Given the description of an element on the screen output the (x, y) to click on. 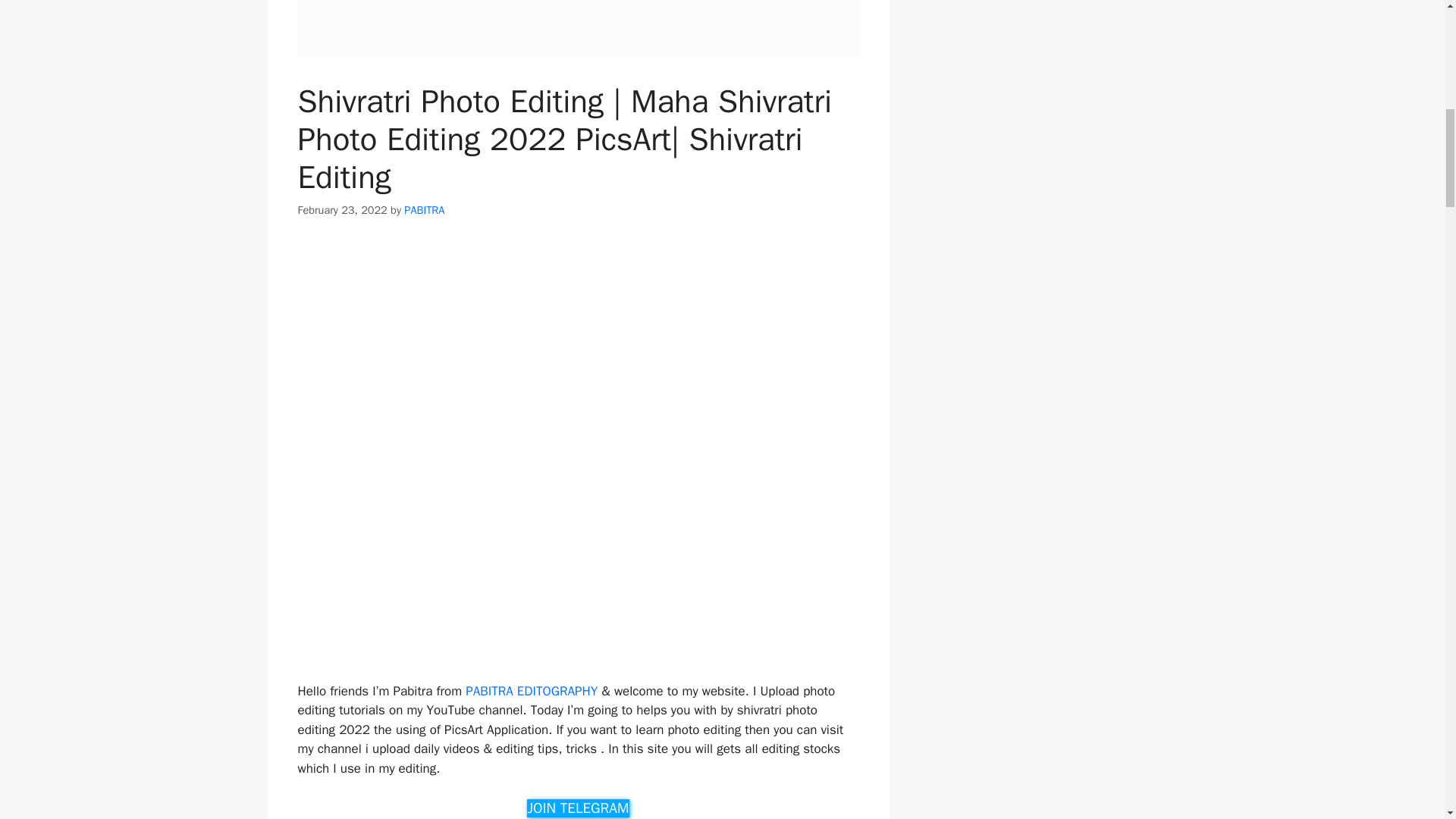
Advertisement (578, 569)
View all posts by PABITRA (424, 210)
Advertisement (578, 350)
PABITRA (424, 210)
PABITRA EDITOGRAPHY (530, 691)
JOIN TELEGRAM (577, 808)
